Given the description of an element on the screen output the (x, y) to click on. 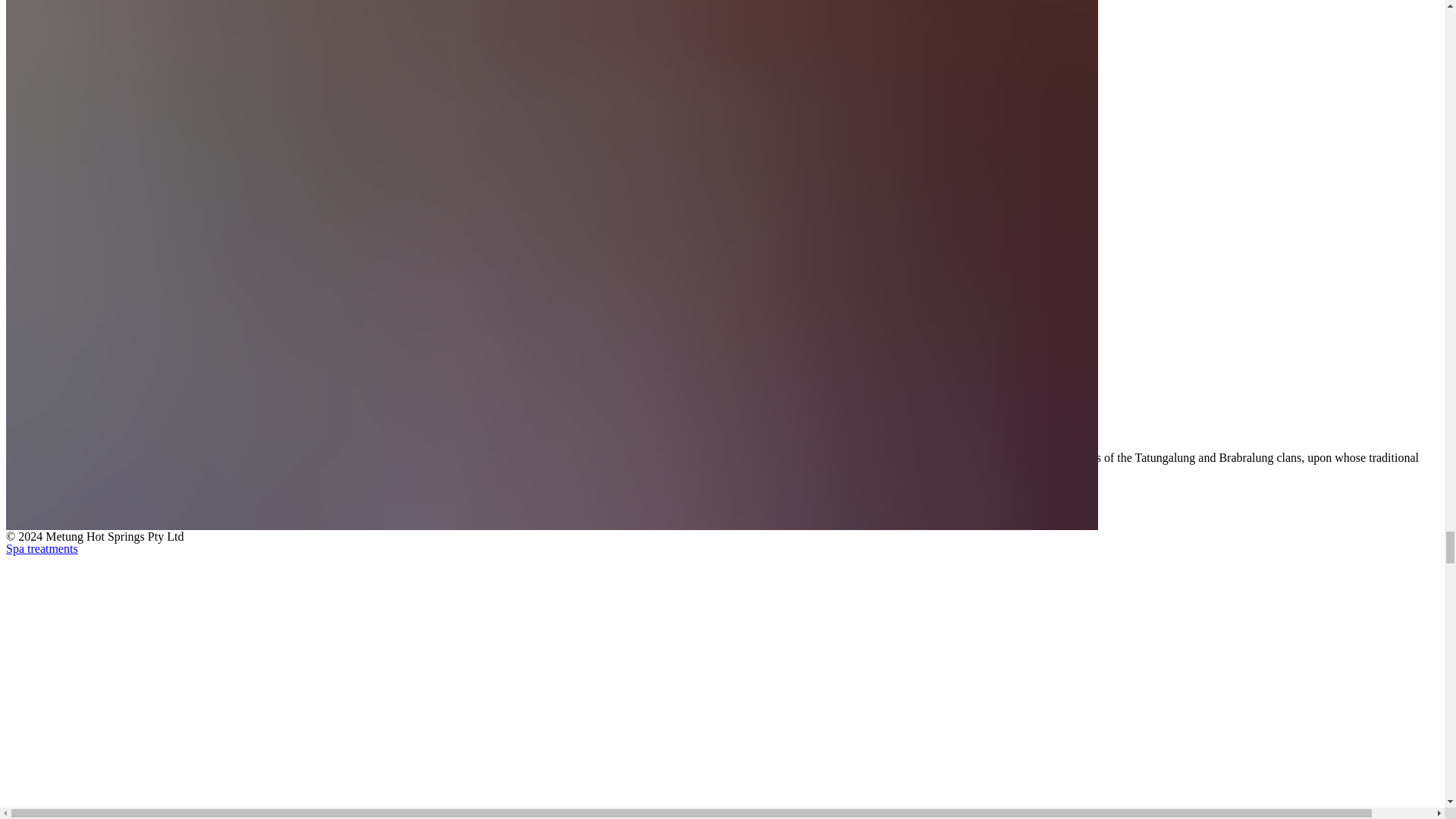
back to the top (44, 395)
terms and conditions (86, 496)
privacy policy (71, 510)
